Given the description of an element on the screen output the (x, y) to click on. 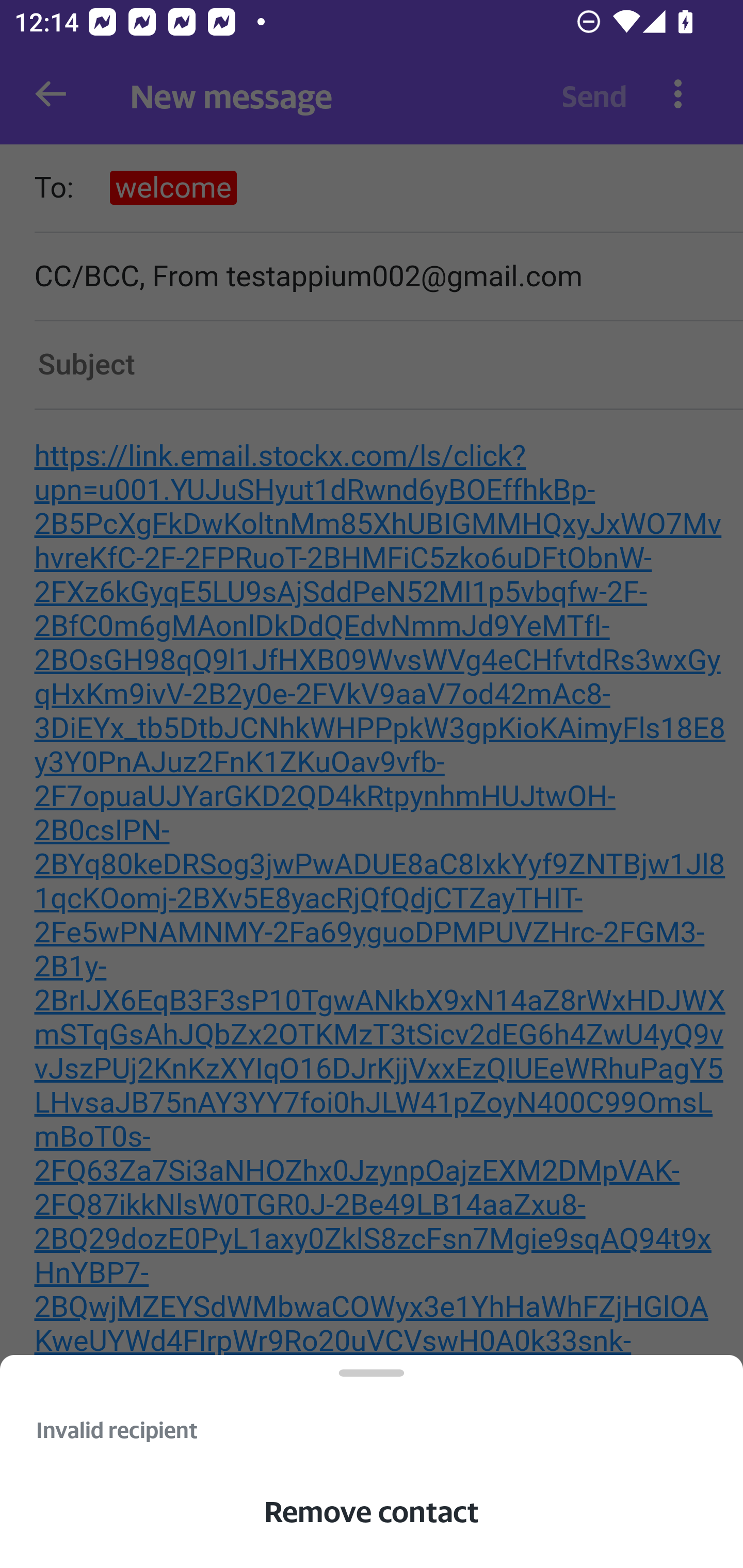
Remove contact (371, 1511)
